Given the description of an element on the screen output the (x, y) to click on. 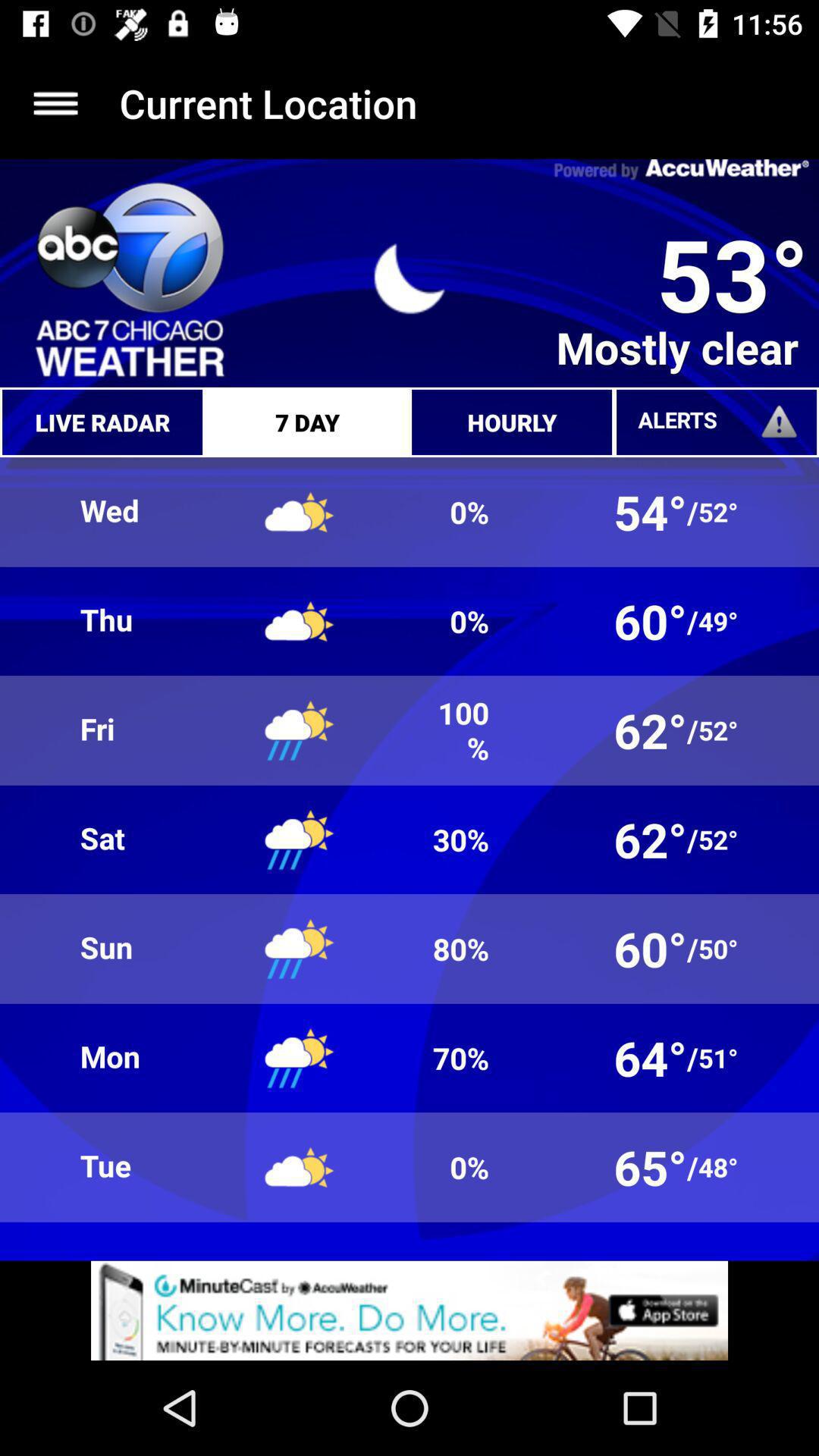
know about the advertisement (409, 1310)
